Given the description of an element on the screen output the (x, y) to click on. 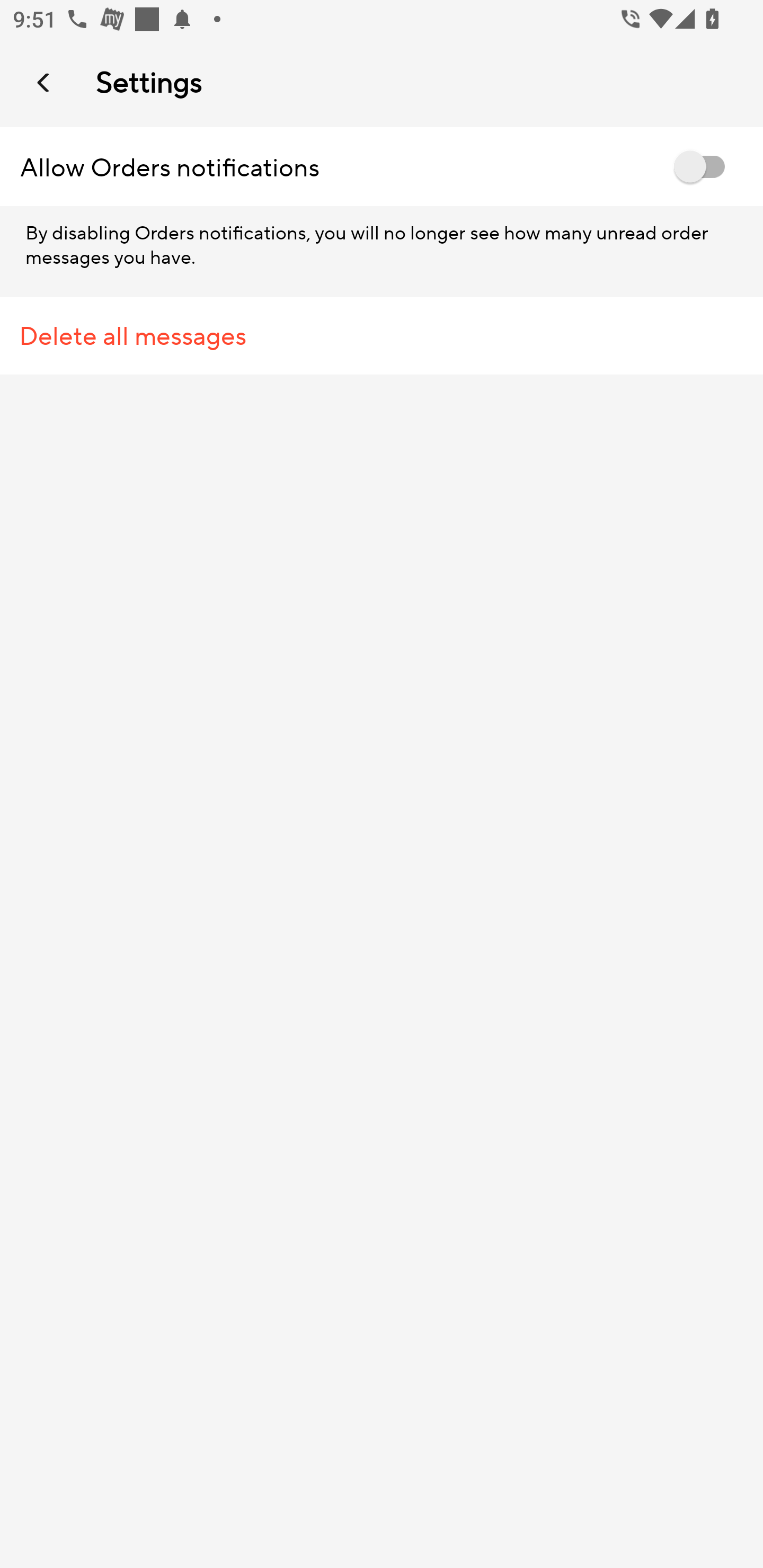
Navigate up (44, 82)
Delete all messages (381, 335)
